Given the description of an element on the screen output the (x, y) to click on. 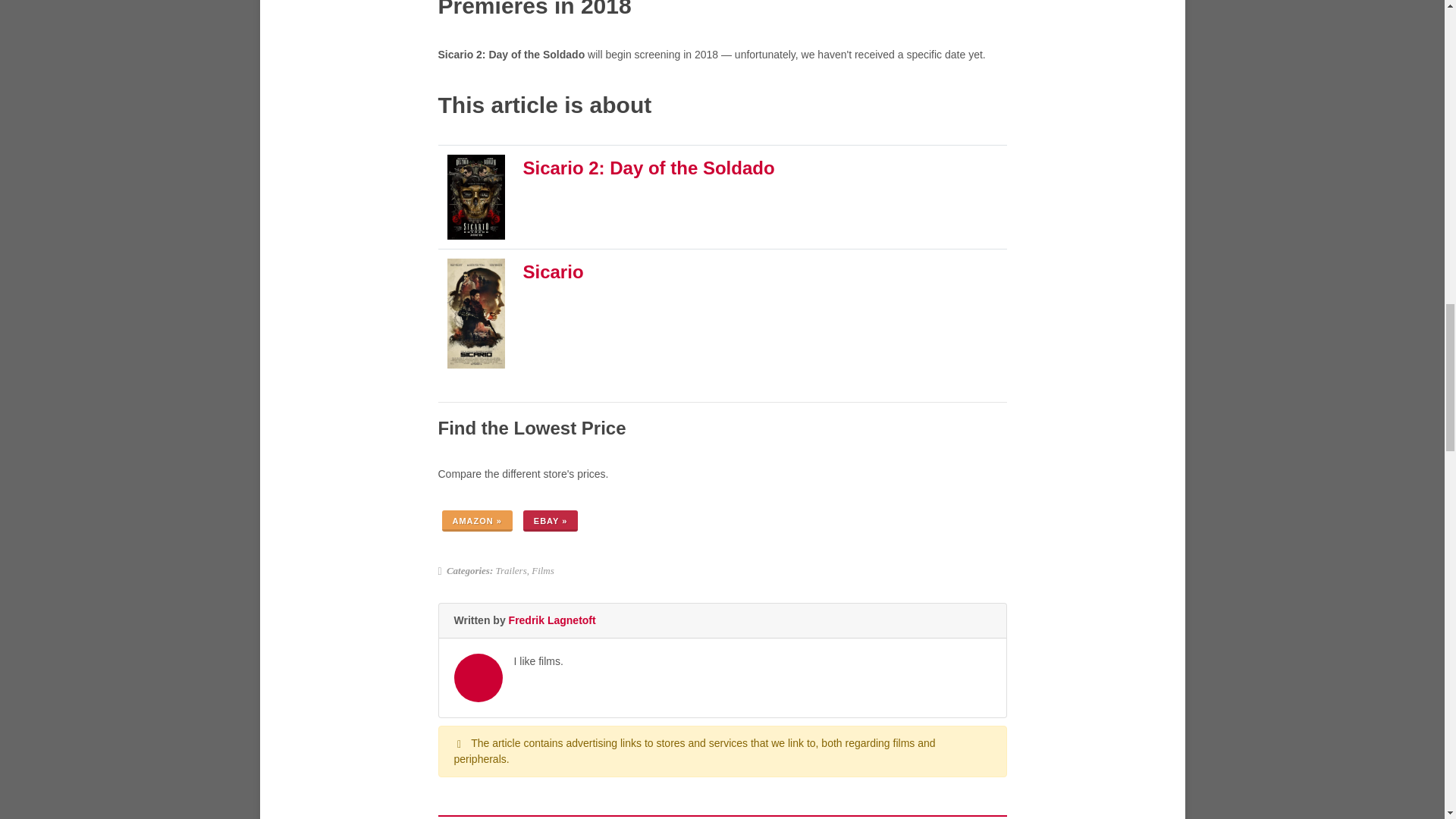
Trailers (511, 570)
Films (542, 570)
